Given the description of an element on the screen output the (x, y) to click on. 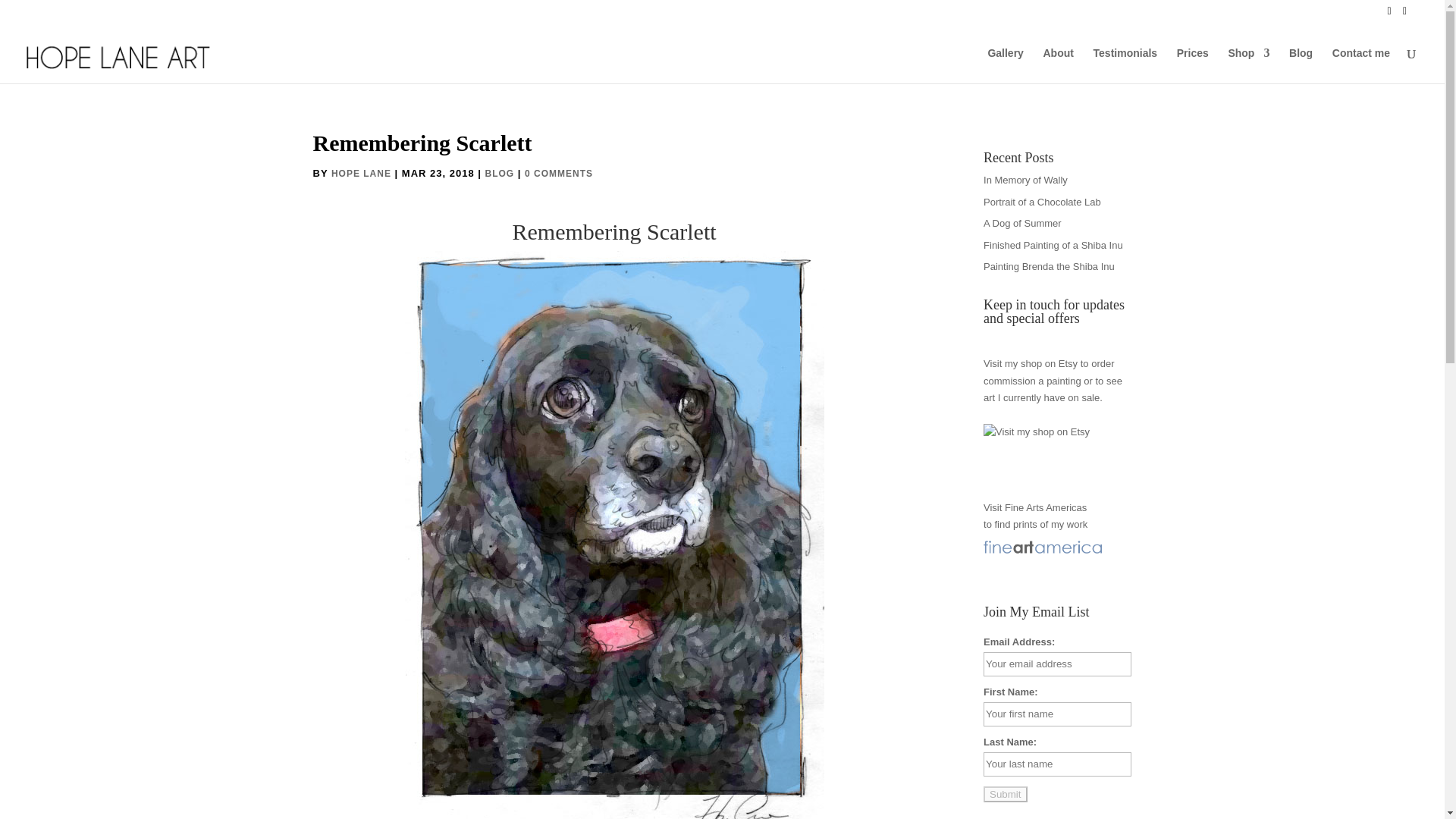
Submit (1005, 794)
Etsy (1067, 363)
Prices (1192, 65)
Portrait of a Chocolate Lab (1042, 202)
BLOG (499, 173)
Finished Painting of a Shiba Inu (1053, 244)
Submit (1005, 794)
Painting Brenda the Shiba Inu (1049, 266)
Fine Arts Americas (1045, 507)
Shop (1248, 65)
